Given the description of an element on the screen output the (x, y) to click on. 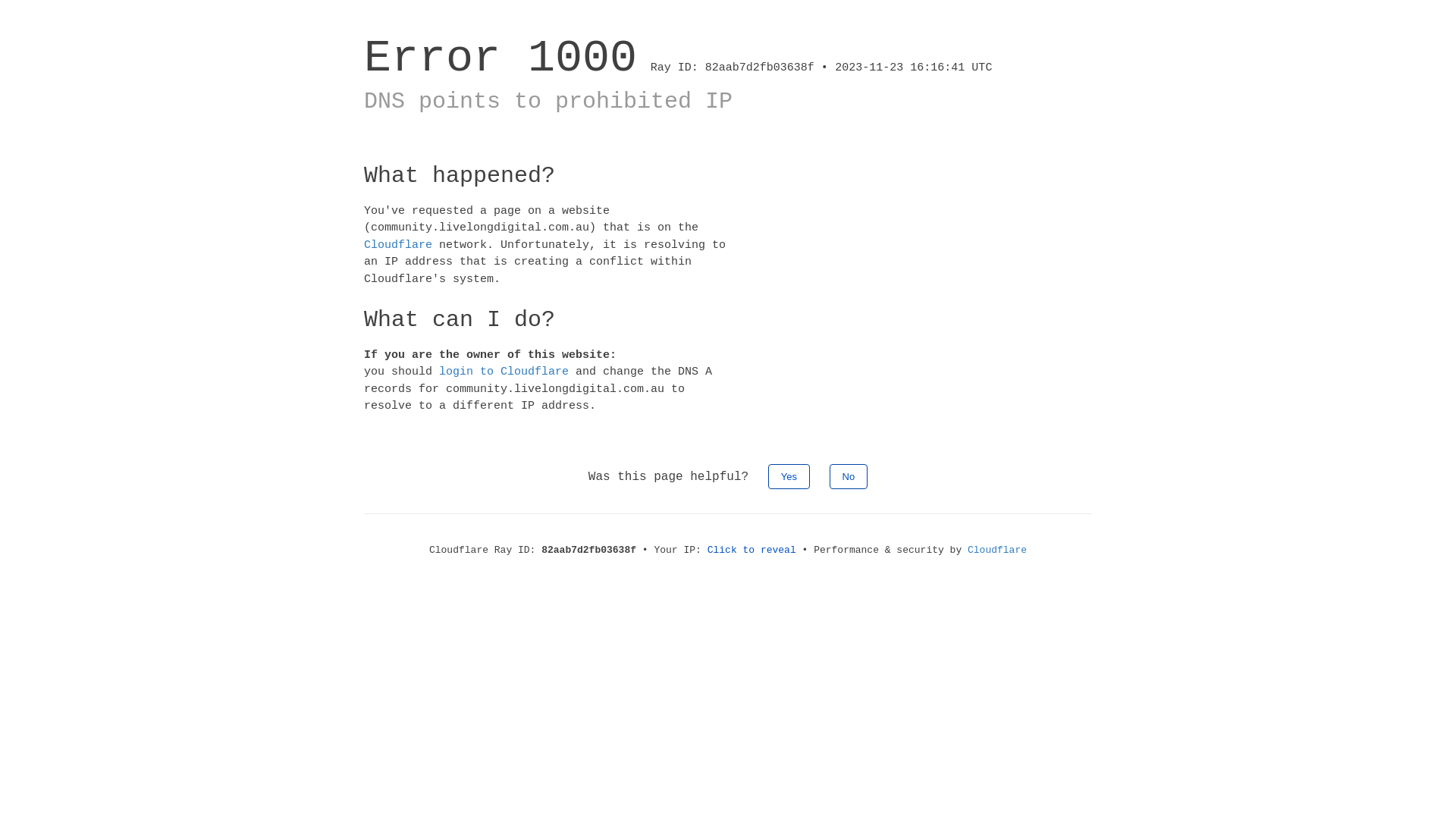
No Element type: text (848, 476)
login to Cloudflare Element type: text (503, 371)
Yes Element type: text (788, 476)
Cloudflare Element type: text (398, 244)
Click to reveal Element type: text (751, 549)
Cloudflare Element type: text (996, 549)
